Given the description of an element on the screen output the (x, y) to click on. 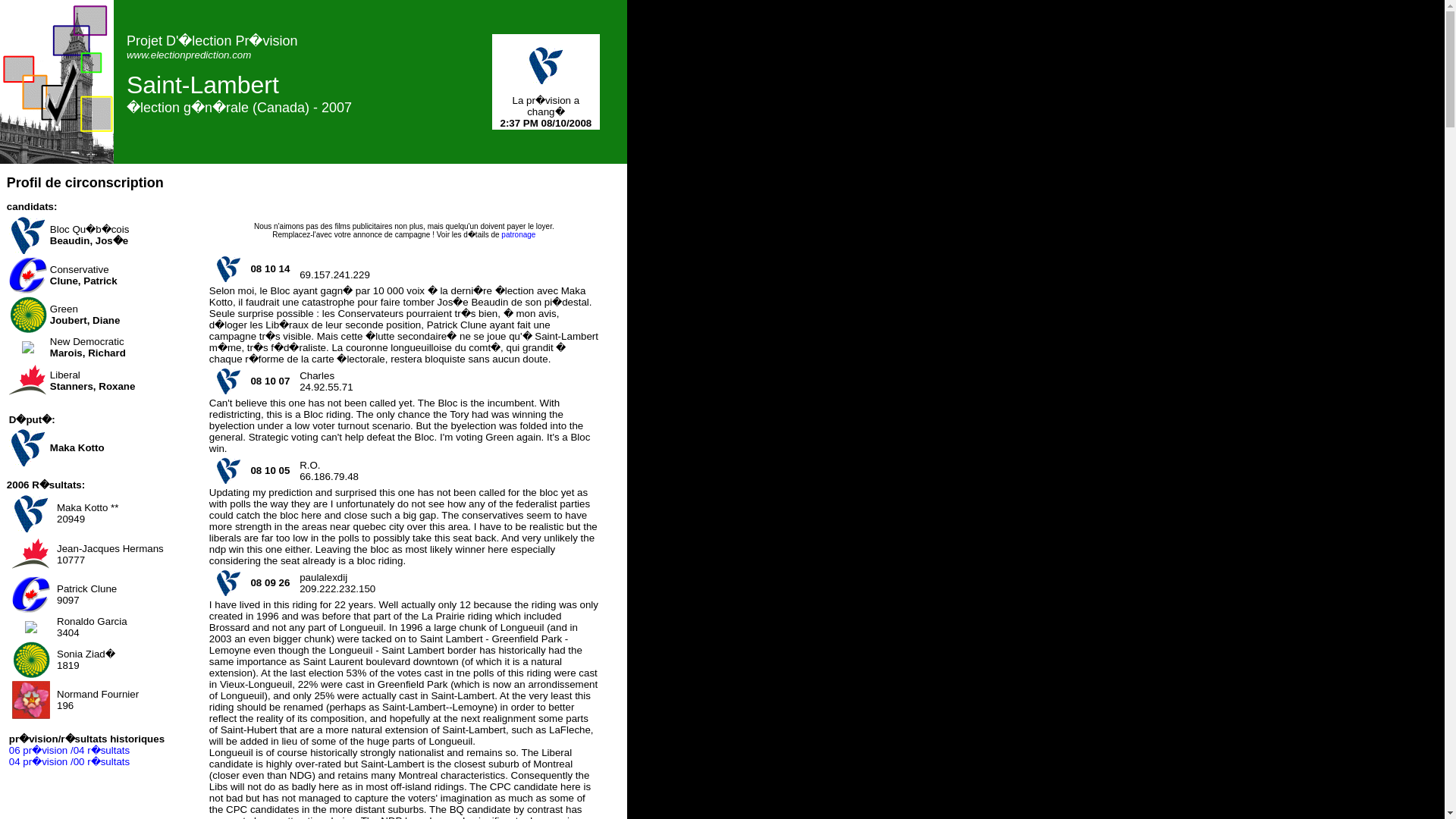
patronage (517, 234)
